Given the description of an element on the screen output the (x, y) to click on. 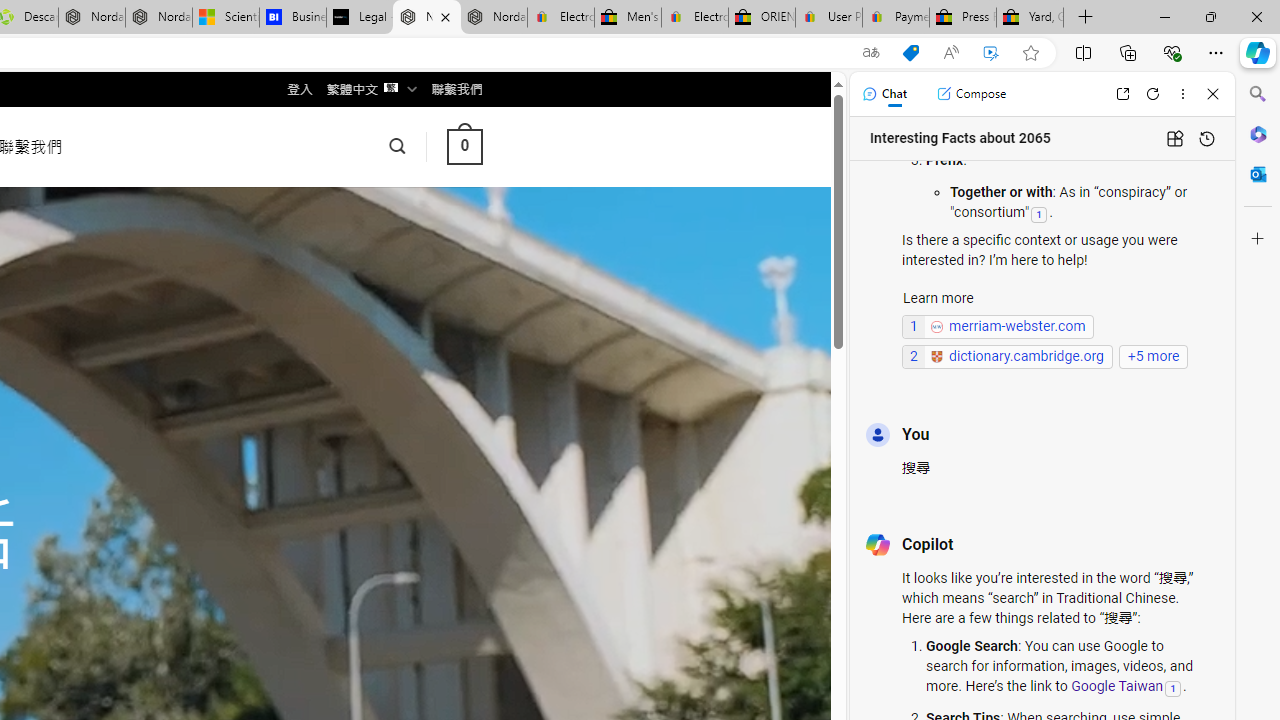
This site has coupons! Shopping in Microsoft Edge (910, 53)
Yard, Garden & Outdoor Living (1030, 17)
 0  (464, 146)
Enhance video (991, 53)
Payments Terms of Use | eBay.com (895, 17)
